Given the description of an element on the screen output the (x, y) to click on. 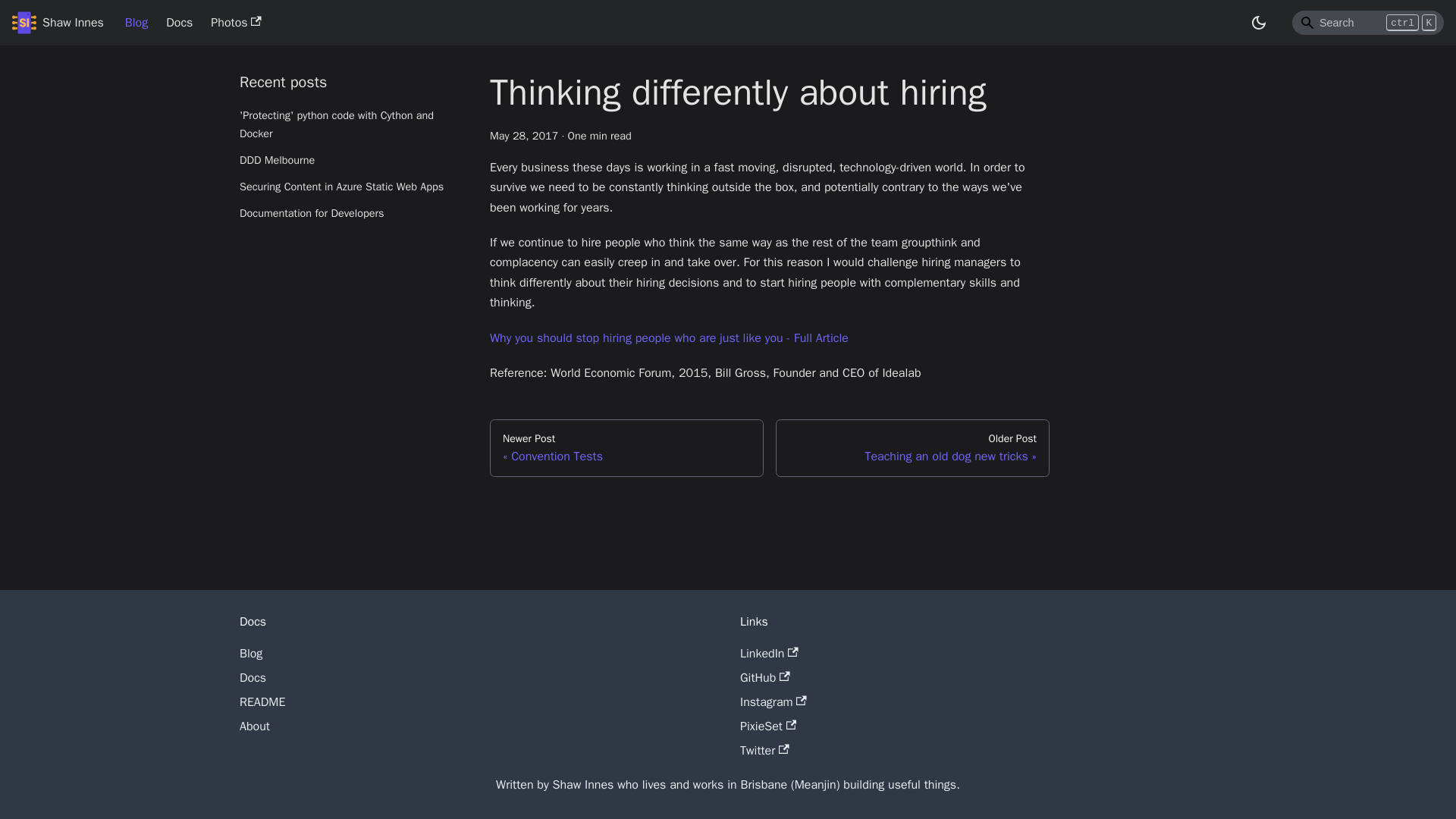
DDD Melbourne (352, 160)
Securing Content in Azure Static Web Apps (352, 187)
LinkedIn (768, 653)
Docs (179, 22)
PixieSet (767, 726)
About (254, 726)
README (262, 702)
Docs (253, 677)
Shaw Innes (57, 22)
Documentation for Developers (352, 213)
Instagram (772, 702)
Twitter (625, 447)
